Given the description of an element on the screen output the (x, y) to click on. 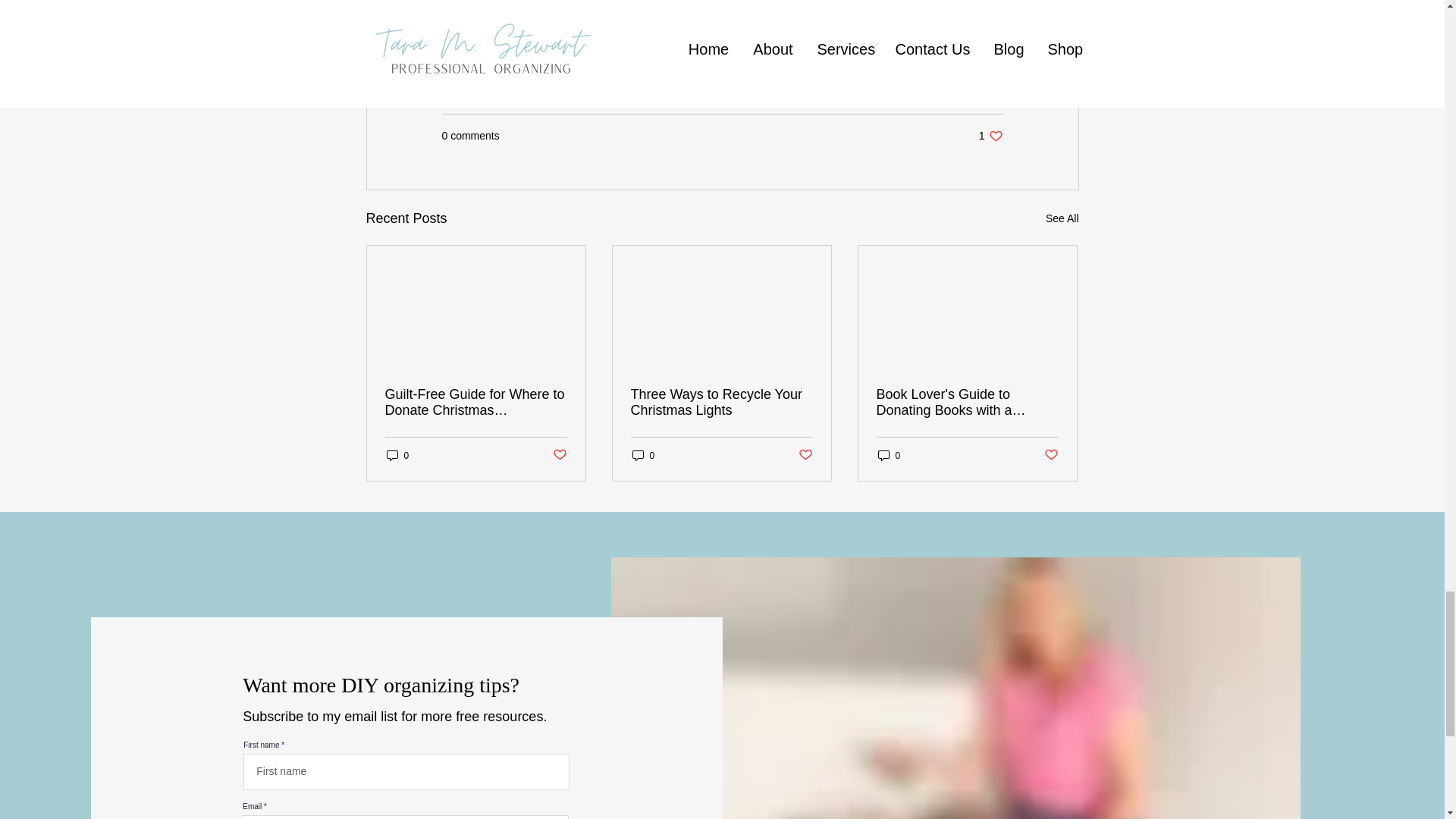
donate (467, 33)
Kid's Toys (707, 33)
Where to Donate (549, 33)
Donation (636, 33)
